Given the description of an element on the screen output the (x, y) to click on. 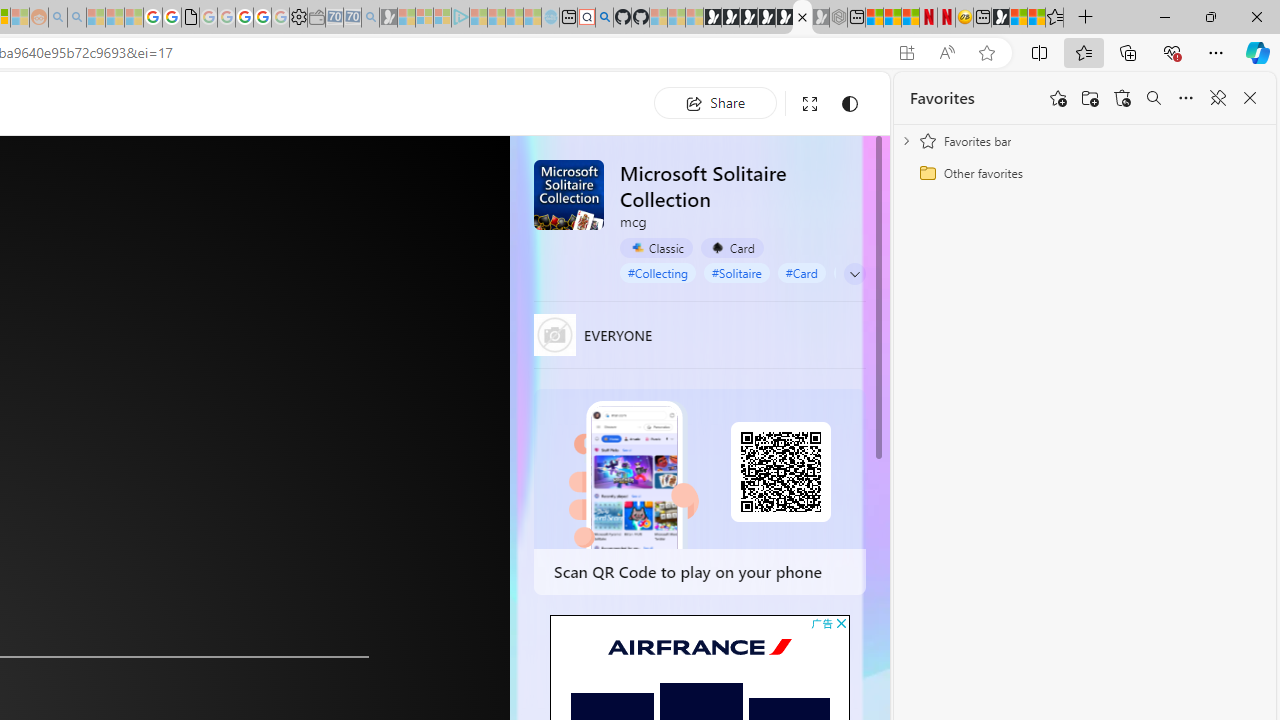
App available. Install Microsoft Solitaire Collection (906, 53)
Share (715, 102)
Play Free Online Games | Games from Microsoft Start (712, 17)
Home | Sky Blue Bikes - Sky Blue Bikes - Sleeping (550, 17)
Add folder (1089, 98)
Restore deleted favorites (1122, 98)
